Given the description of an element on the screen output the (x, y) to click on. 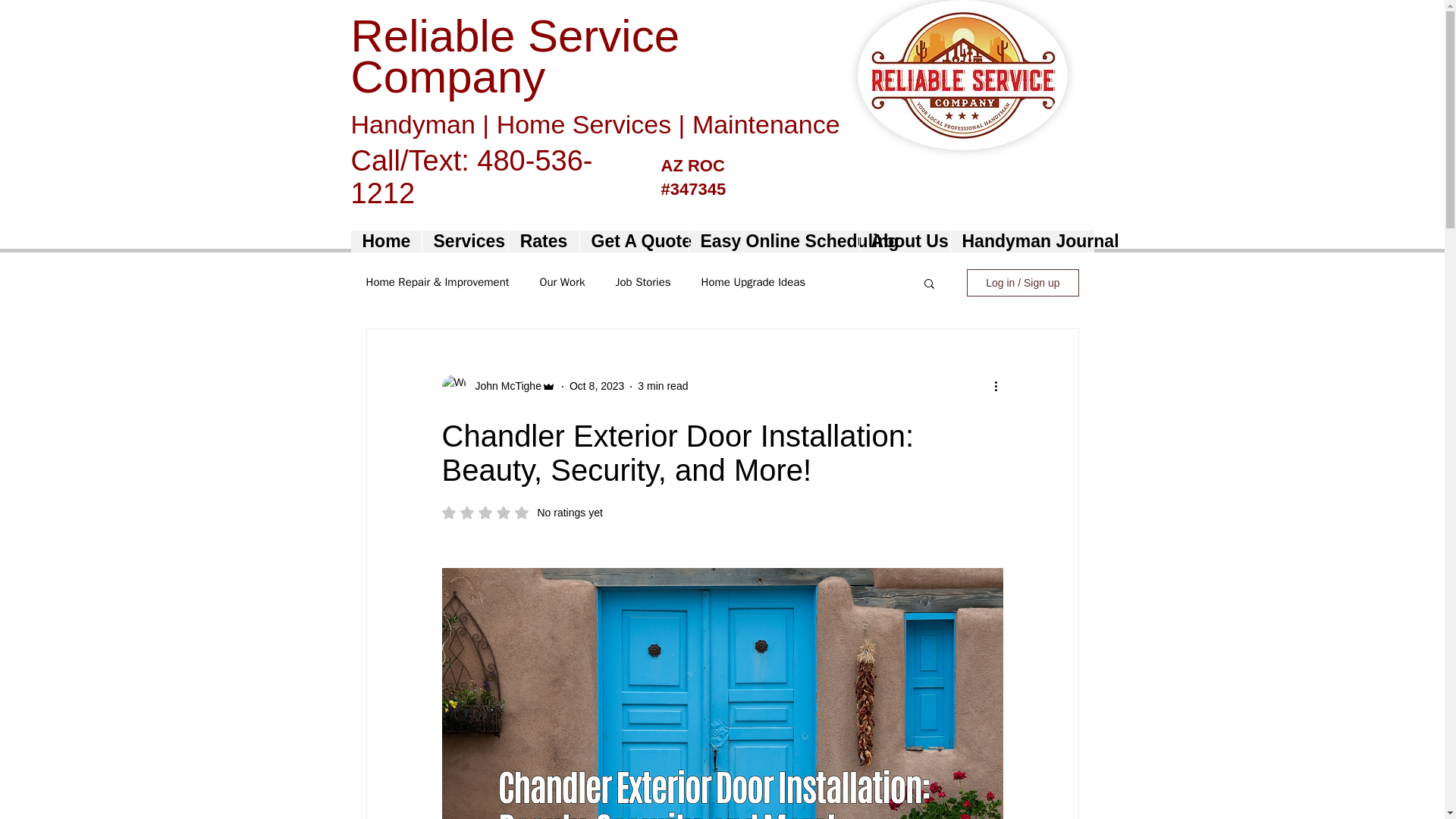
Easy Online Scheduling (773, 241)
3 min read (662, 386)
About Us (904, 241)
Handyman Journal (1021, 241)
Job Stories (641, 282)
Oct 8, 2023 (521, 512)
Home (596, 386)
Home Upgrade Ideas (385, 241)
John McTighe (753, 282)
Rates (502, 385)
Get A Quote (543, 241)
Our Work (633, 241)
